Given the description of an element on the screen output the (x, y) to click on. 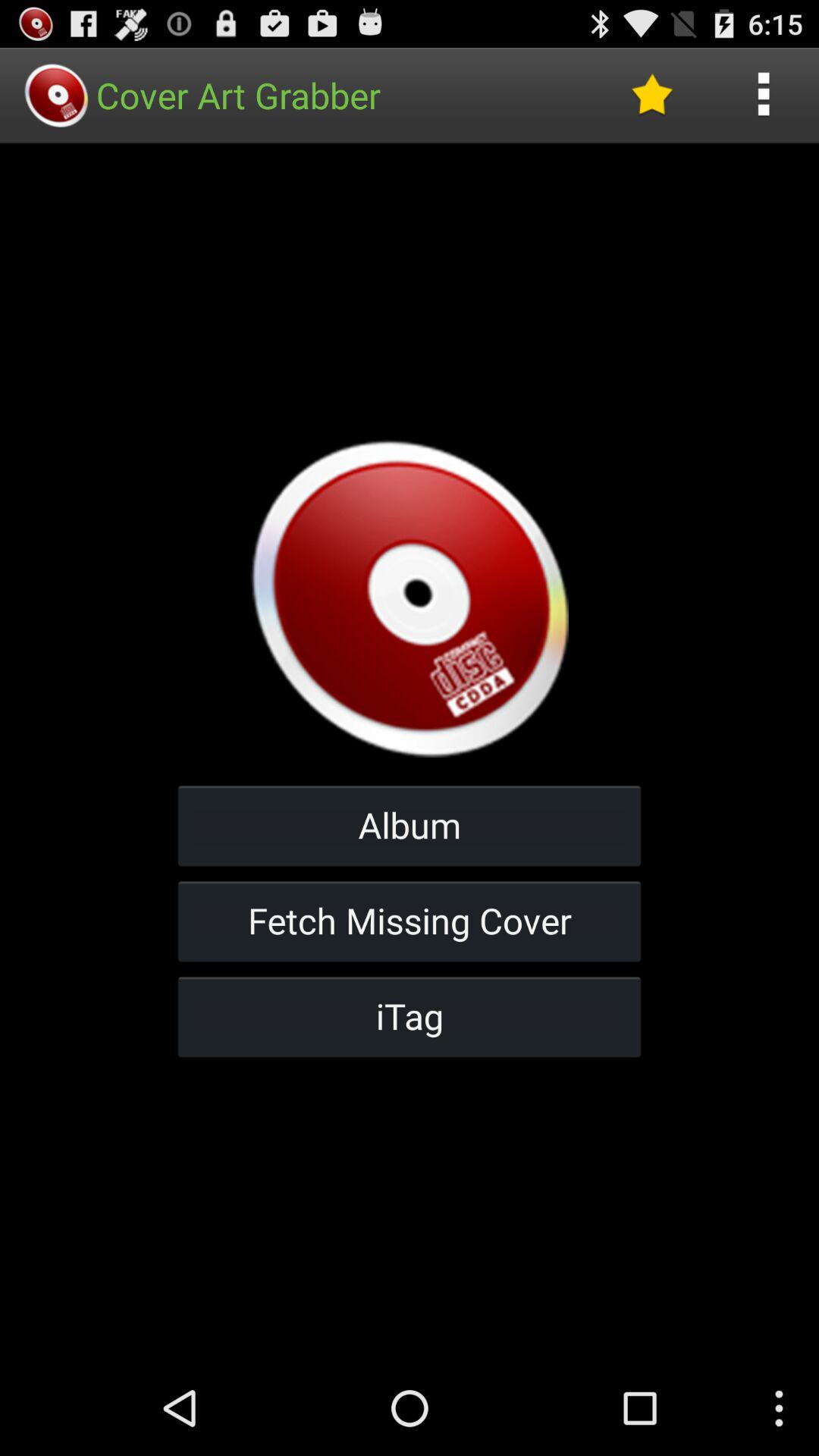
turn on button above the album icon (651, 95)
